Given the description of an element on the screen output the (x, y) to click on. 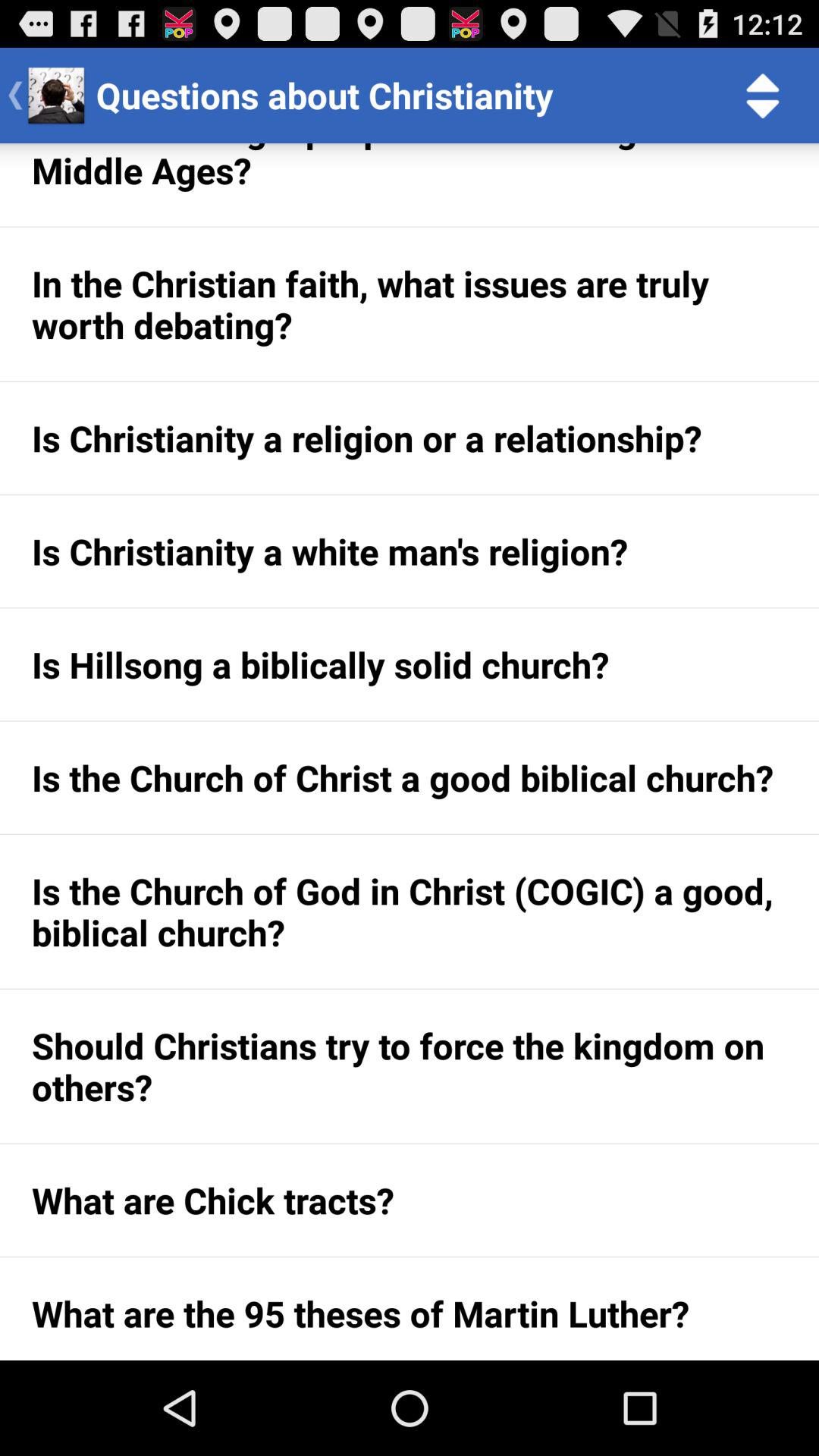
choose the app to the right of the questions about christianity app (763, 95)
